Given the description of an element on the screen output the (x, y) to click on. 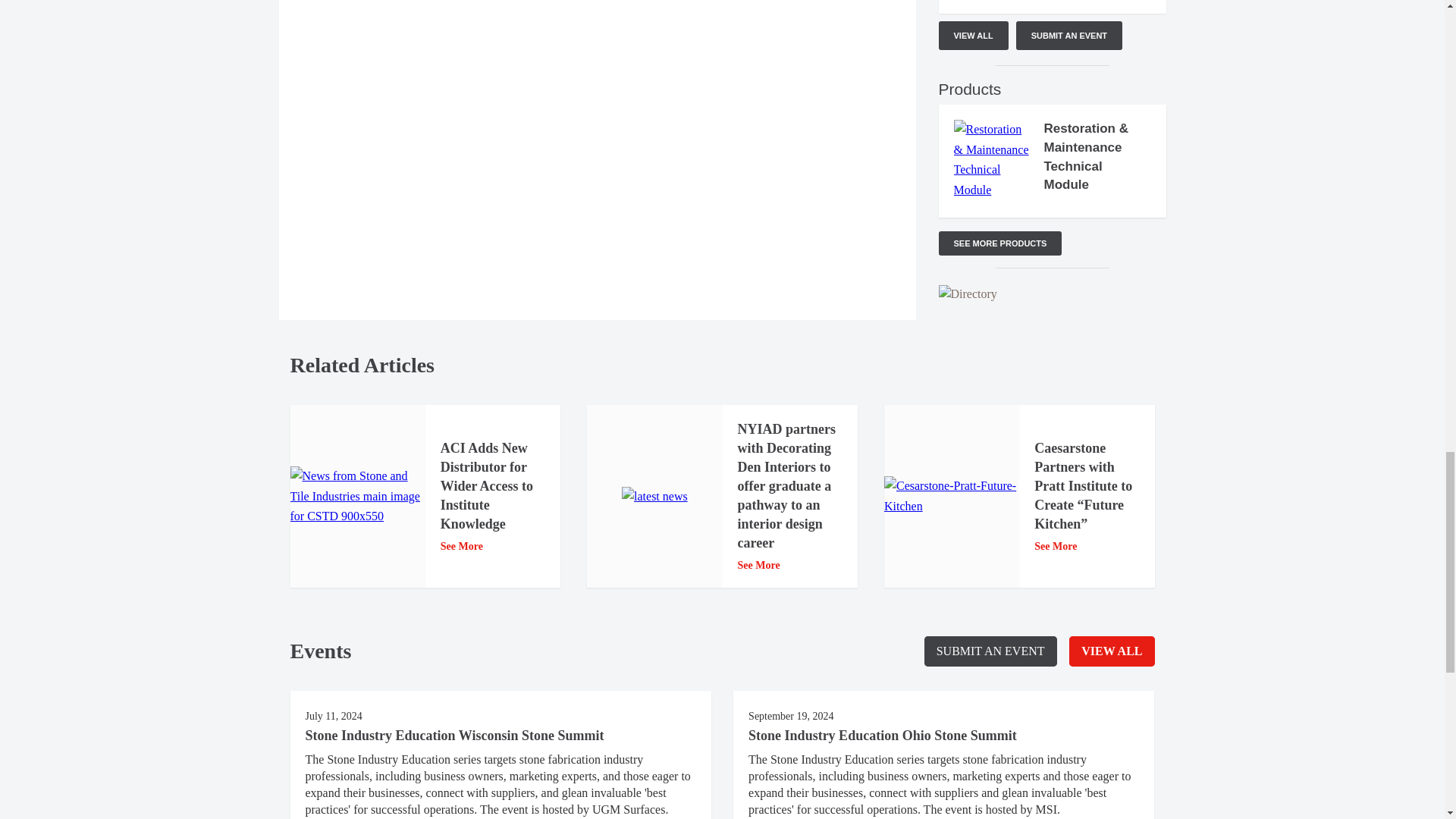
CSTD News (357, 496)
Cesarstone-Pratt-Institute.jpg (951, 495)
